Given the description of an element on the screen output the (x, y) to click on. 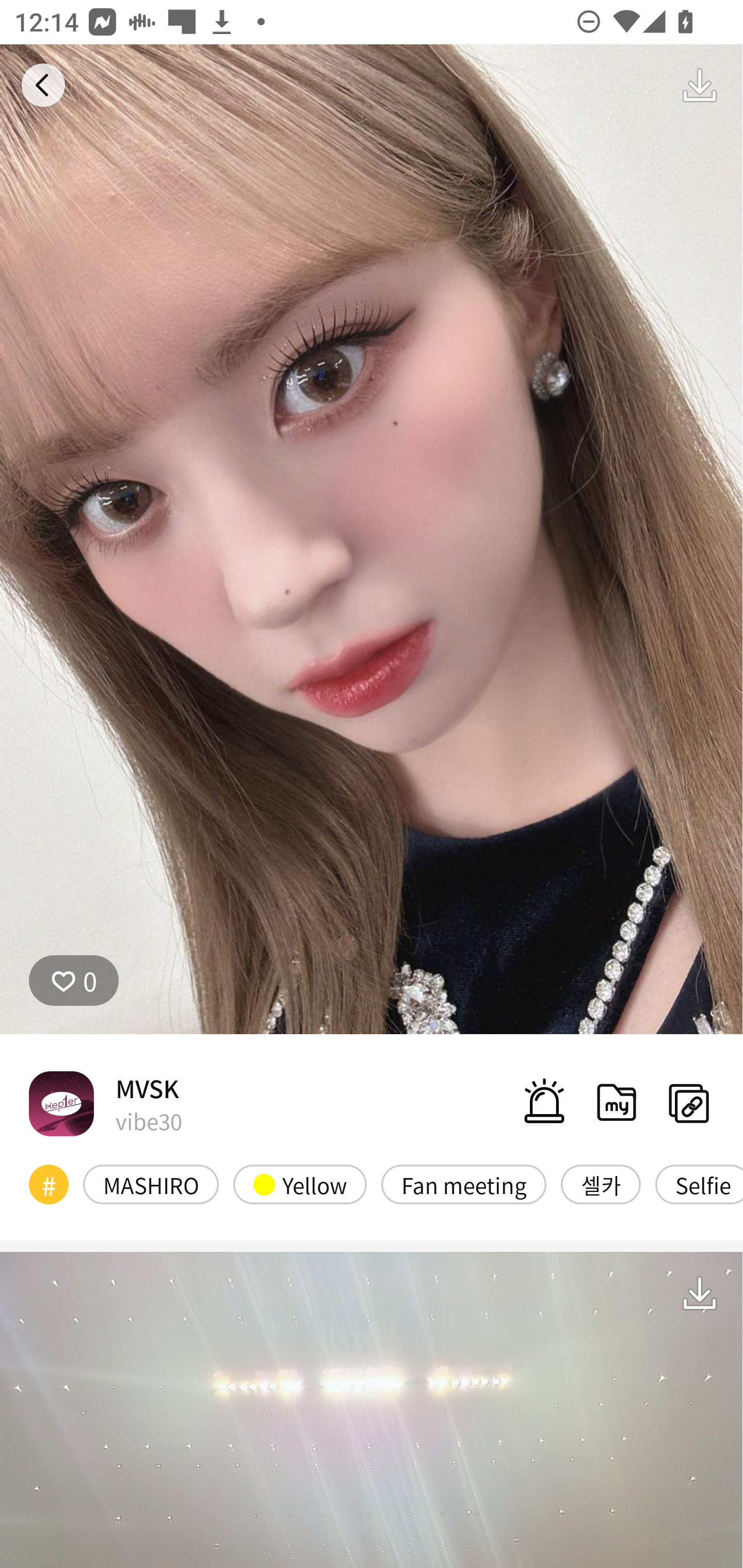
0 (73, 980)
MVSK vibe30 (105, 1102)
MASHIRO (150, 1184)
Yellow (300, 1184)
Fan meeting (463, 1184)
셀카 (600, 1184)
Selfie (699, 1184)
